Given the description of an element on the screen output the (x, y) to click on. 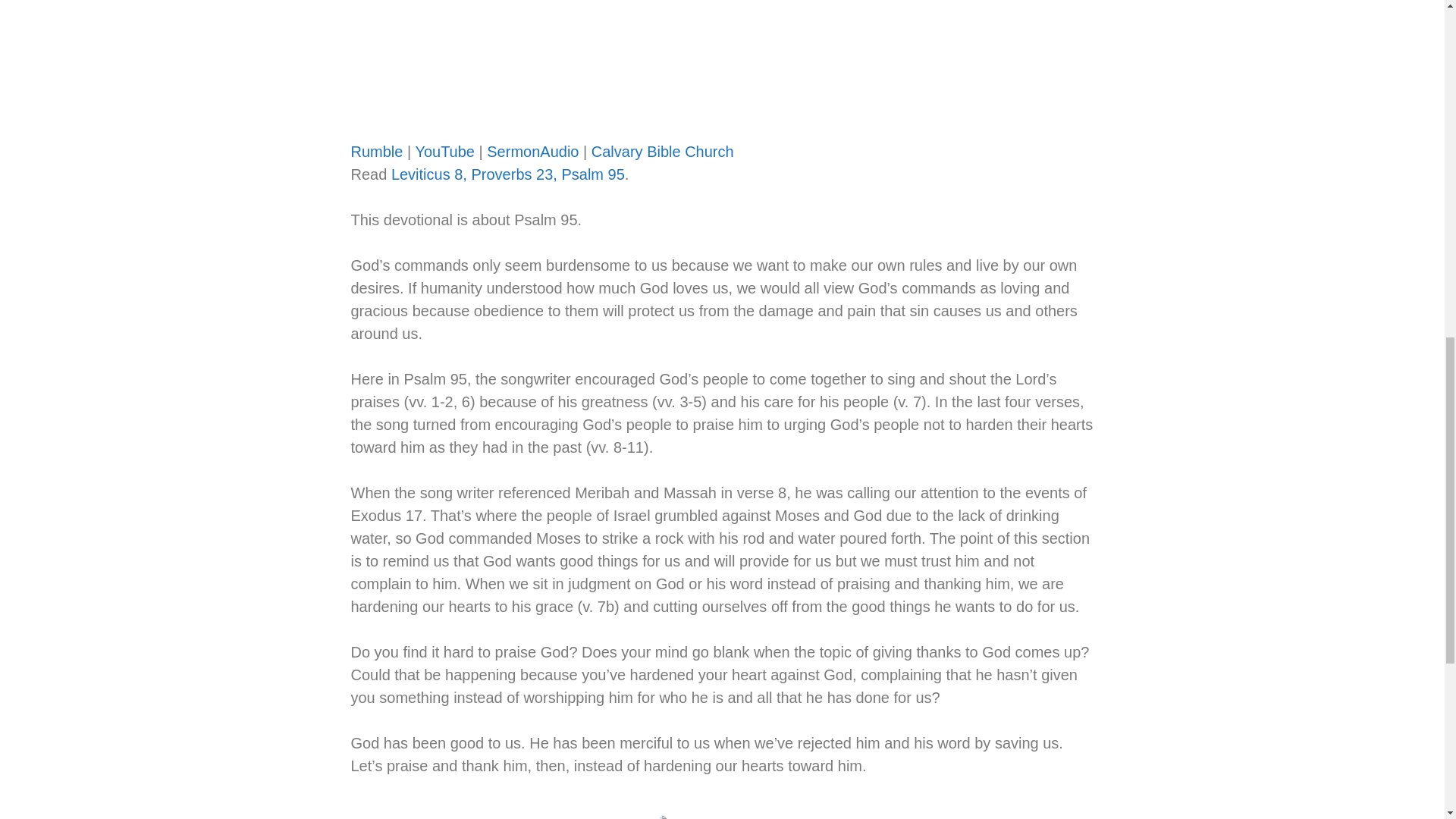
Rumble (376, 151)
SermonAudio (532, 151)
Pastor Brian Jones (368, 816)
April 4, 2024 (501, 816)
Calvary Bible Church (662, 151)
YouTube (444, 151)
Leviticus 8, Proverbs 23, Psalm 95 (507, 174)
Psalm 95 (721, 61)
Scroll back to top (1406, 720)
